Given the description of an element on the screen output the (x, y) to click on. 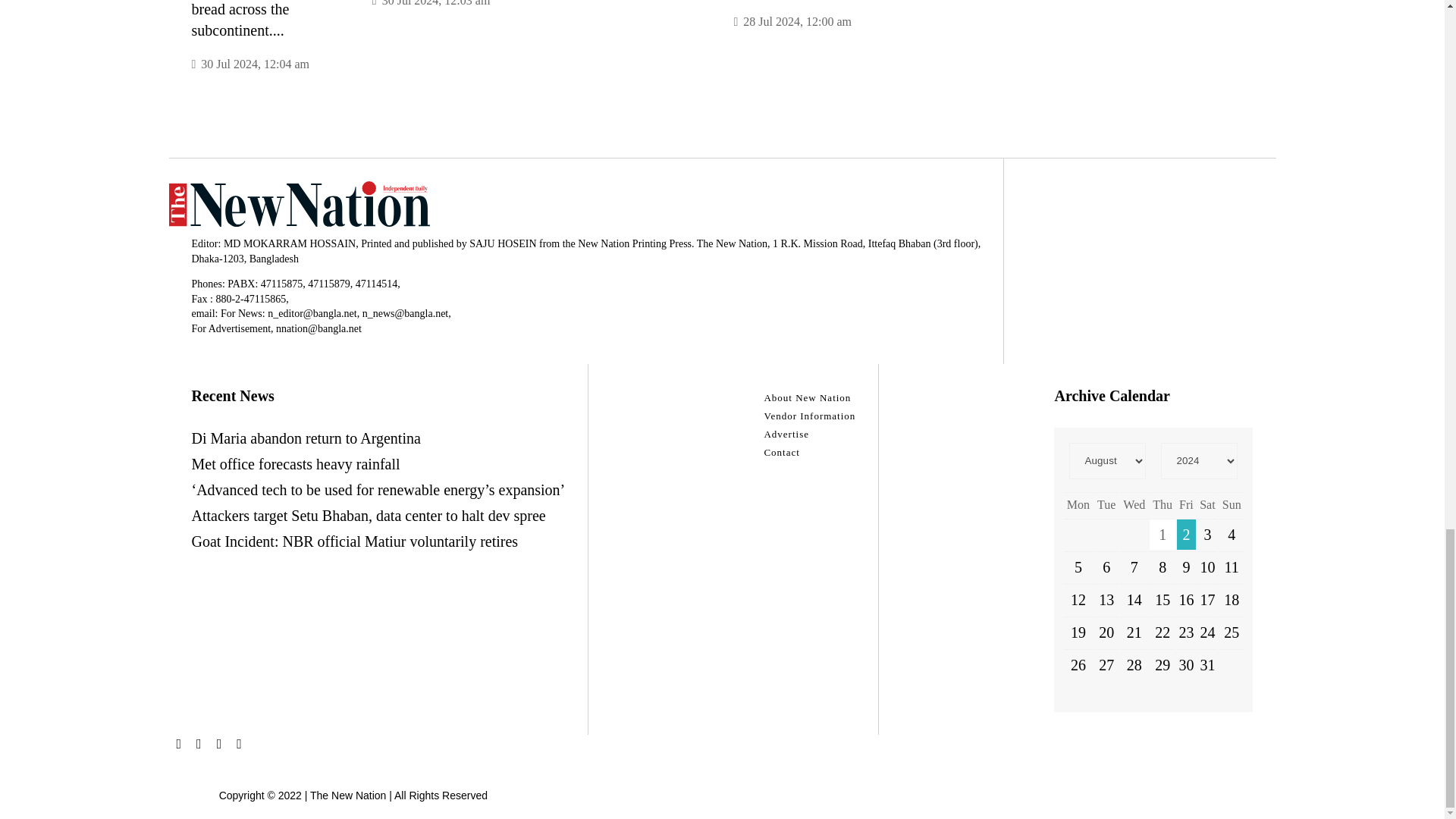
Goat Incident: NBR official Matiur voluntarily retires (354, 541)
Sunday (1232, 504)
Met office forecasts heavy rainfall (294, 463)
Thursday (1162, 504)
Attackers target Setu Bhaban, data center to halt dev spree (367, 515)
Wednesday (1133, 504)
Tuesday (1106, 504)
Monday (1077, 504)
Di Maria abandon return to Argentina (305, 437)
